Given the description of an element on the screen output the (x, y) to click on. 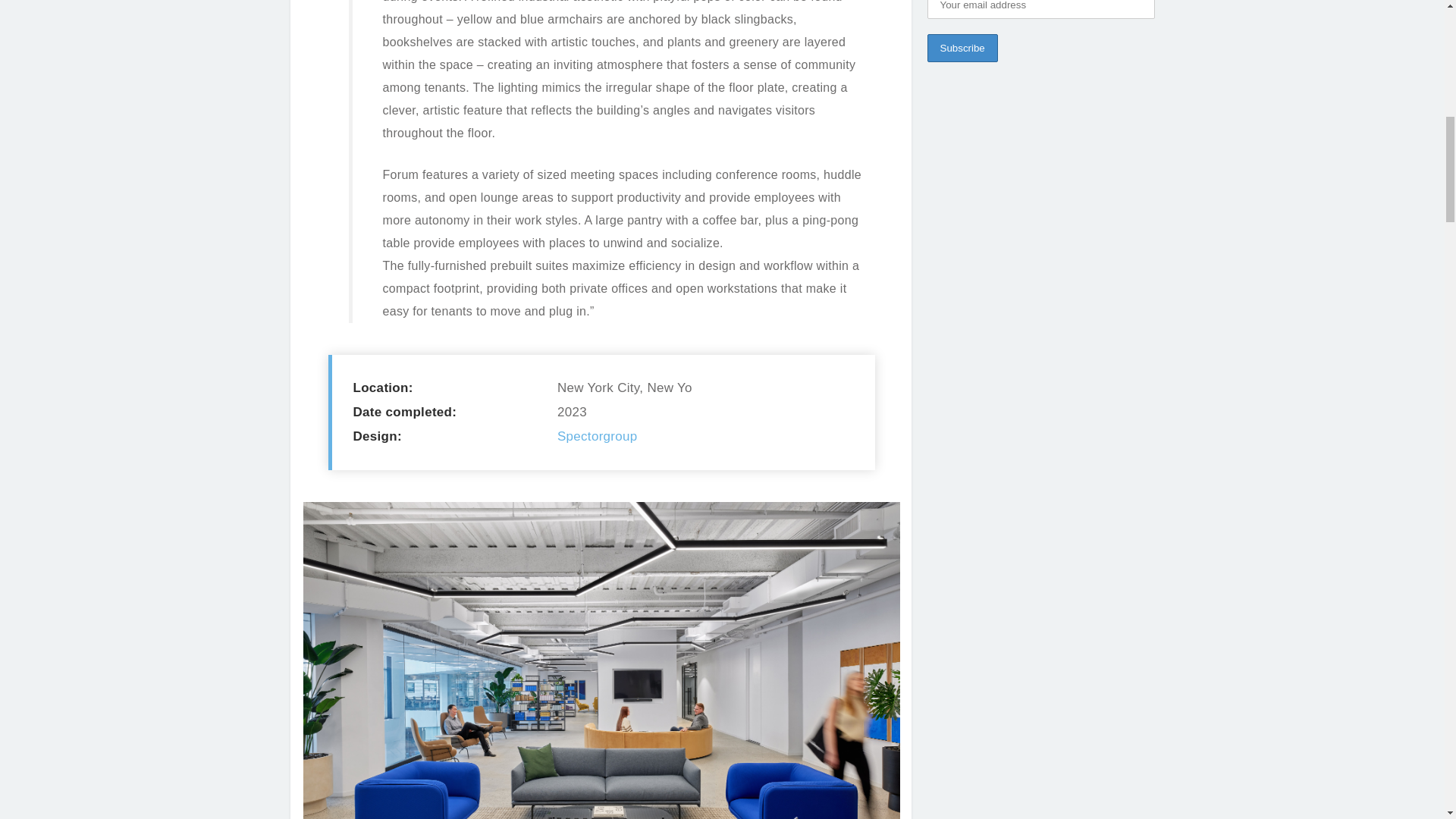
Subscribe (961, 48)
